Given the description of an element on the screen output the (x, y) to click on. 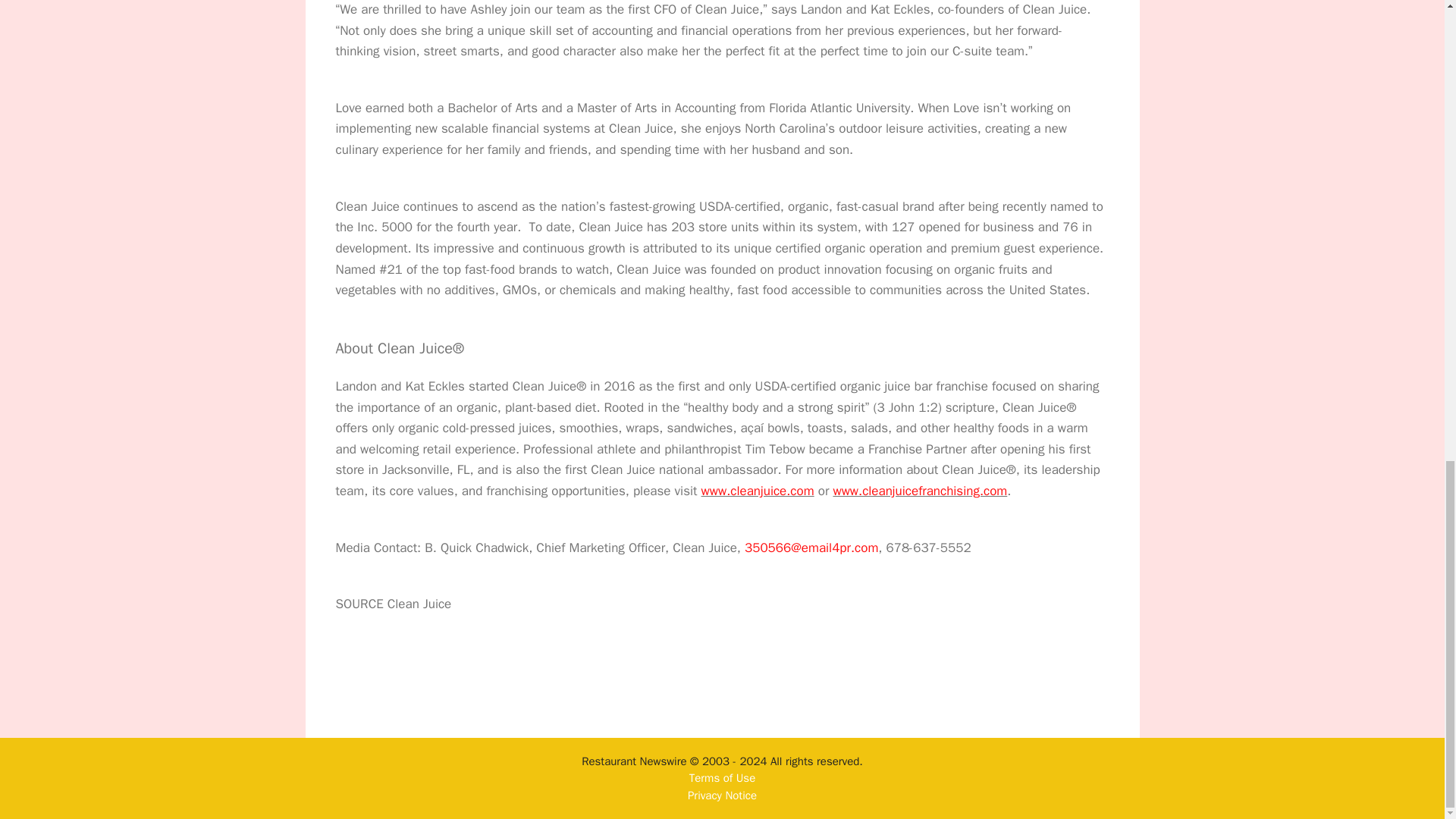
www.cleanjuicefranchising.com (919, 490)
www.cleanjuice.com (757, 490)
Terms of Use (721, 777)
Privacy Notice (722, 795)
